Given the description of an element on the screen output the (x, y) to click on. 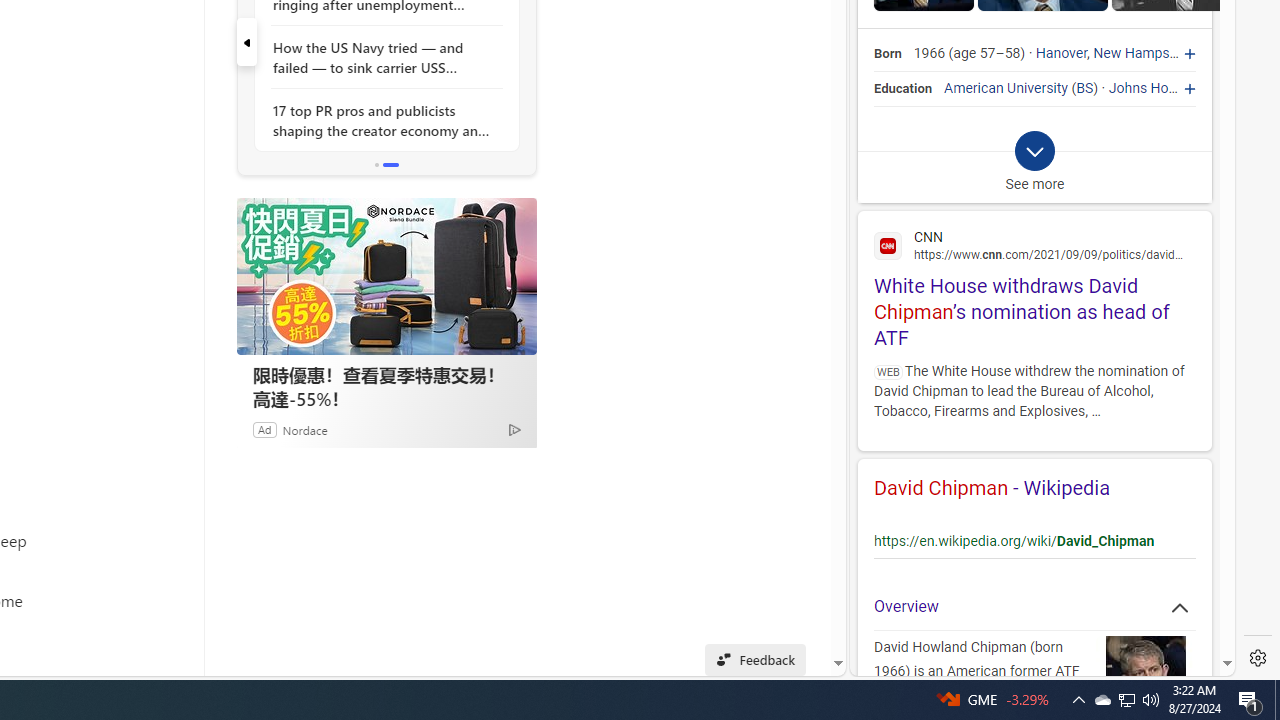
American University (1005, 88)
Nordace (304, 429)
BS (1085, 88)
New Hampshire (1142, 53)
Education (903, 88)
Overview (1034, 606)
Global web icon (888, 246)
CNN (1034, 244)
